Given the description of an element on the screen output the (x, y) to click on. 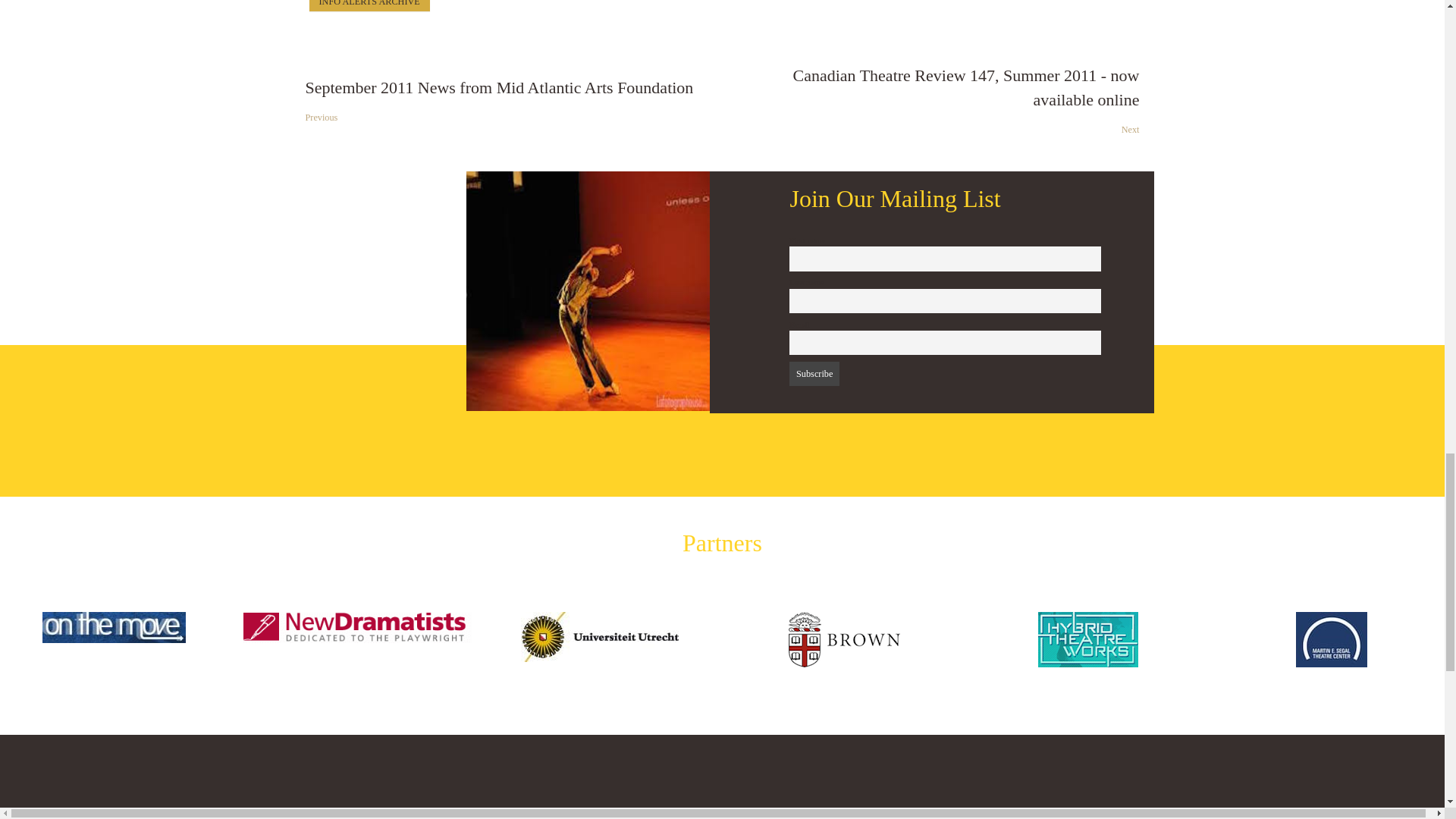
Subscribe (813, 373)
HaMapah (587, 290)
September 2011 News from Mid Atlantic Arts Foundation (508, 101)
